Given the description of an element on the screen output the (x, y) to click on. 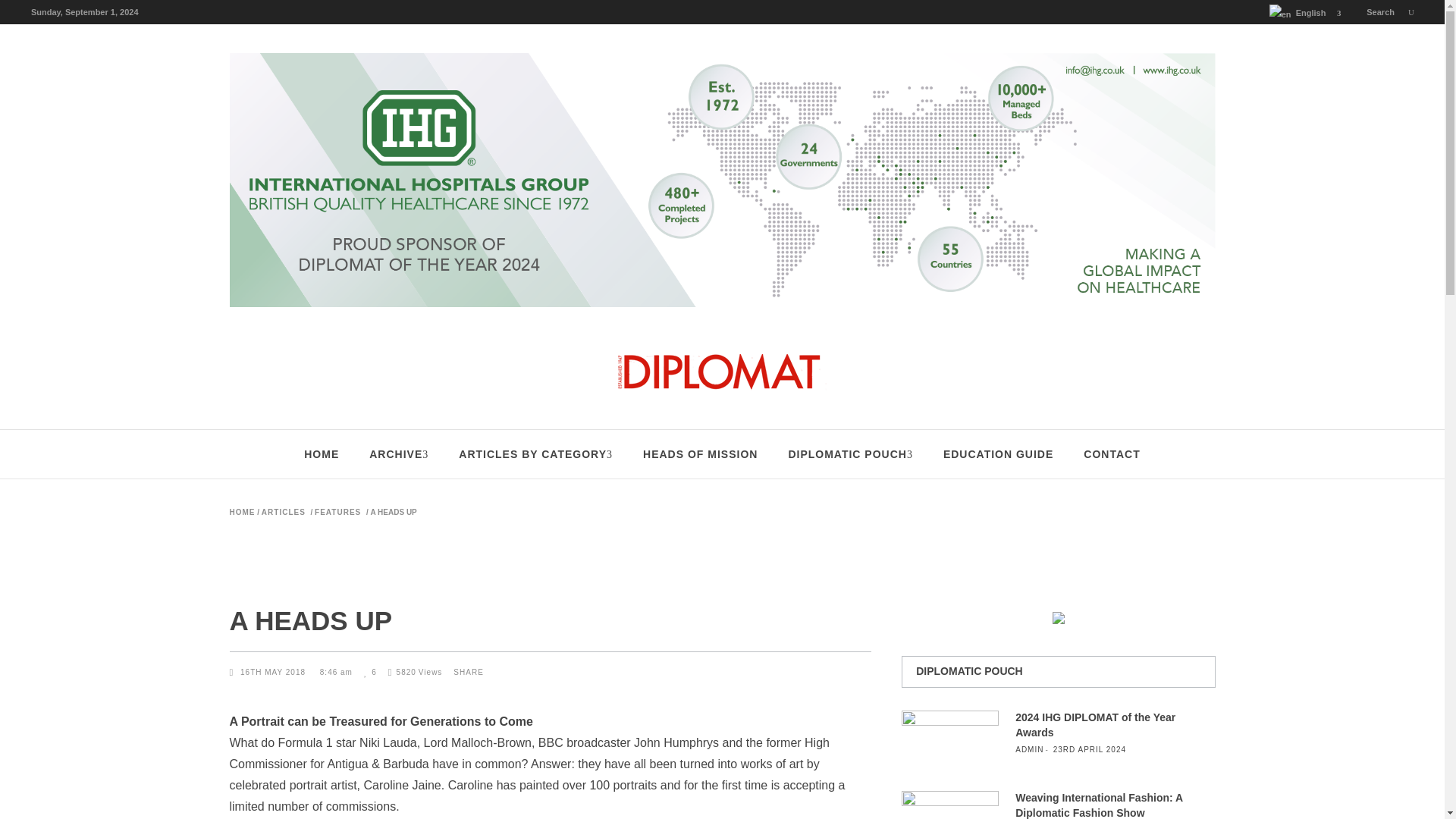
HOME (320, 453)
 English (1298, 12)
ARTICLES BY CATEGORY (535, 453)
Like this (370, 672)
ARCHIVE (398, 453)
English (1280, 14)
Search (1390, 11)
